Given the description of an element on the screen output the (x, y) to click on. 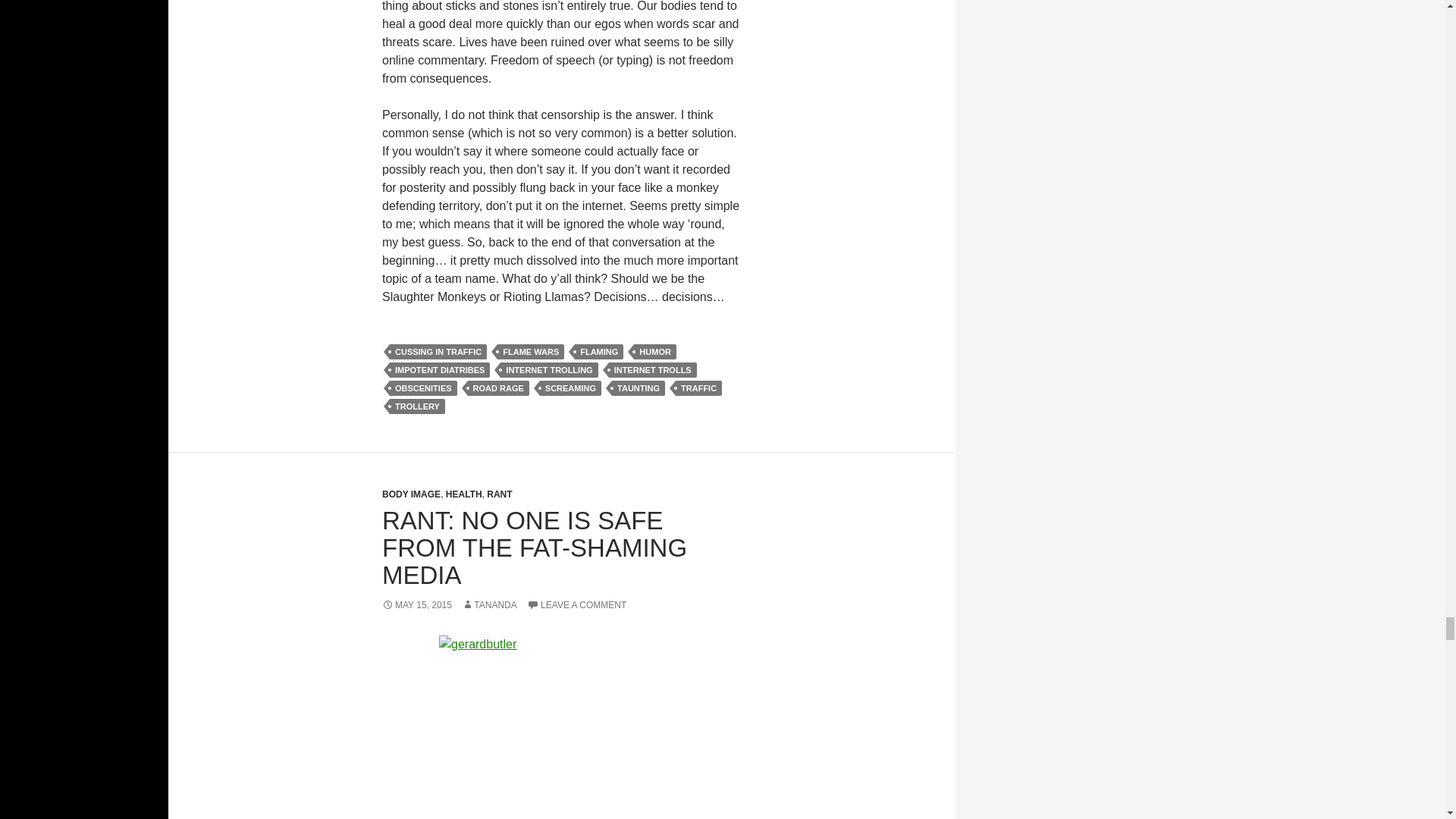
gerardbutler (561, 727)
